Given the description of an element on the screen output the (x, y) to click on. 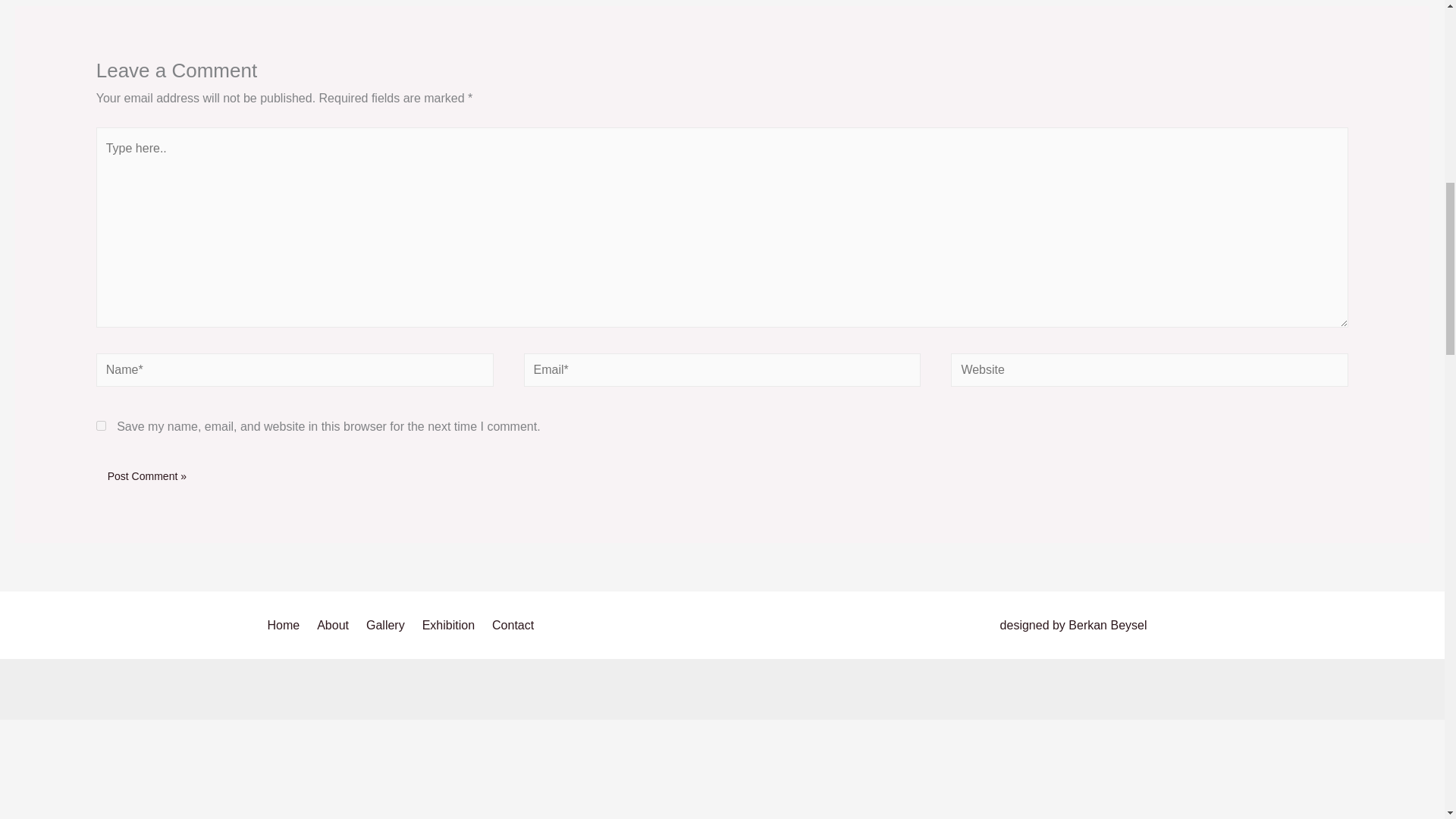
Gallery (387, 625)
yes (101, 425)
Exhibition (451, 625)
Contact (515, 625)
About (335, 625)
Home (288, 625)
